Given the description of an element on the screen output the (x, y) to click on. 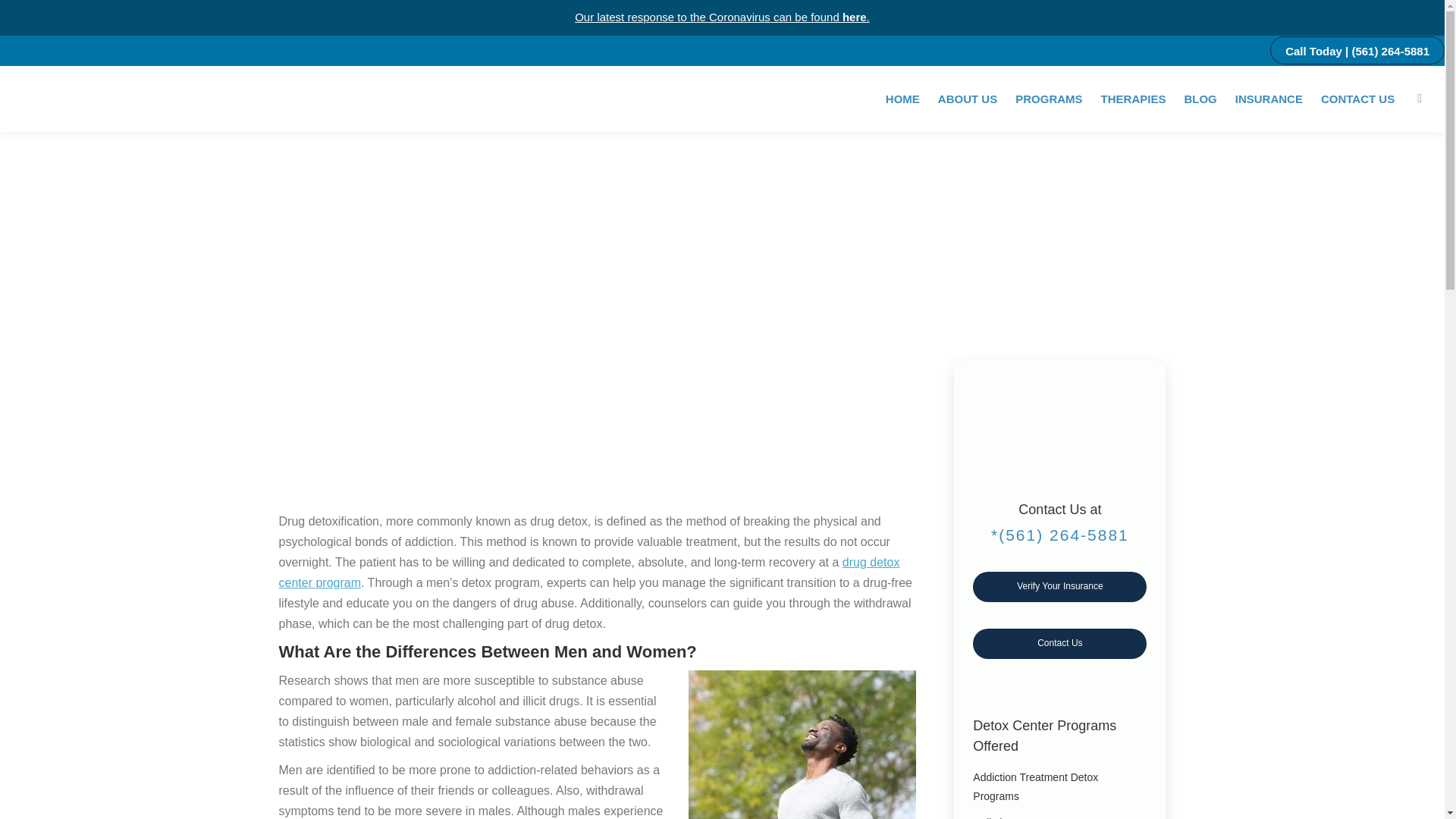
BLOG (1199, 97)
CONTACT US (1357, 97)
Contact Us (1059, 643)
Go! (24, 15)
INSURANCE (1268, 97)
ABOUT US (967, 97)
PROGRAMS (1047, 97)
THERAPIES (1133, 97)
HOME (902, 97)
